Given the description of an element on the screen output the (x, y) to click on. 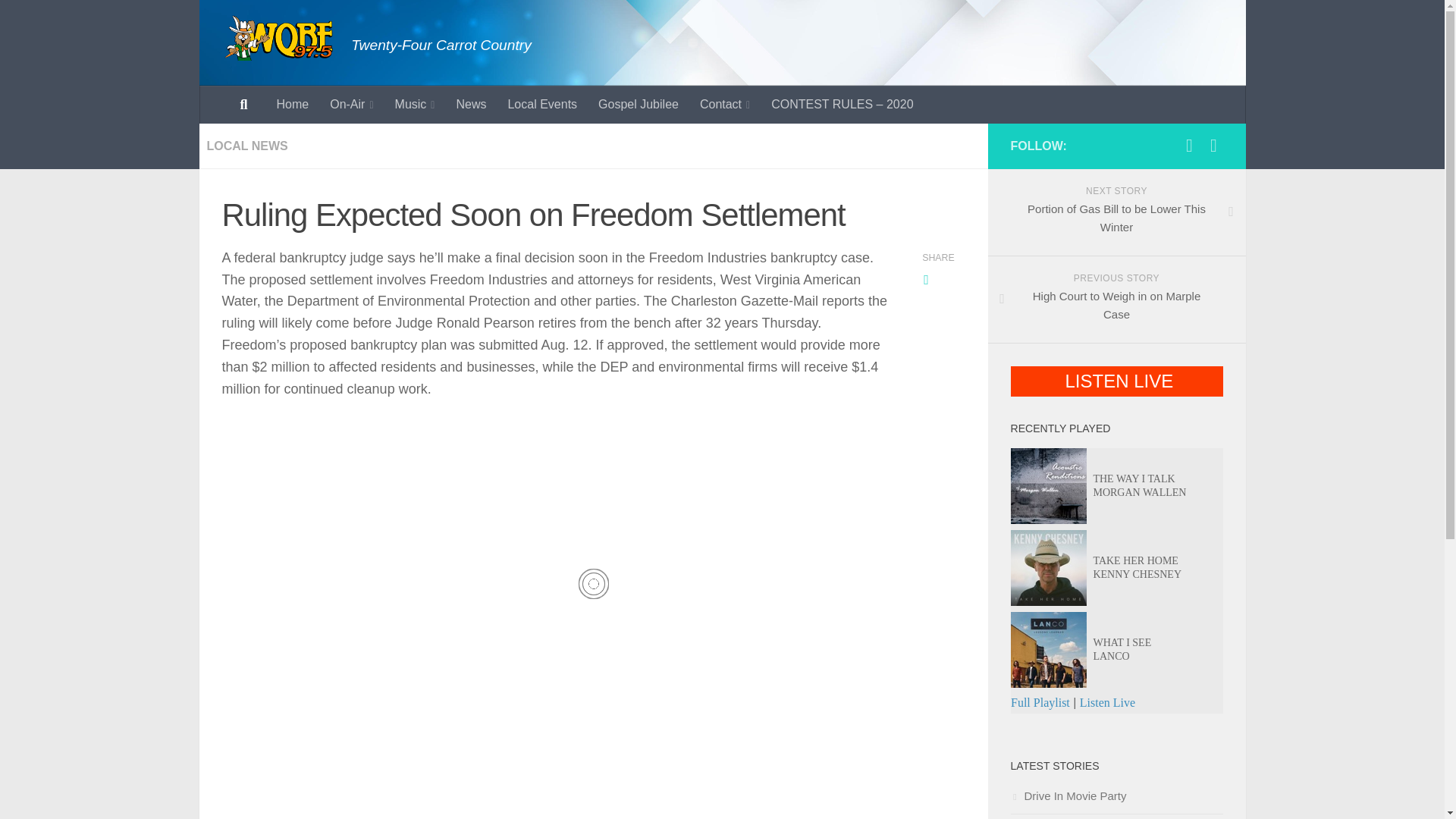
Home (291, 104)
Local Events (542, 104)
News (470, 104)
Follow us on Facebook (1188, 145)
Contact (724, 104)
Gospel Jubilee (638, 104)
Follow us on Twitter (1213, 145)
Music (414, 104)
On-Air (351, 104)
